Given the description of an element on the screen output the (x, y) to click on. 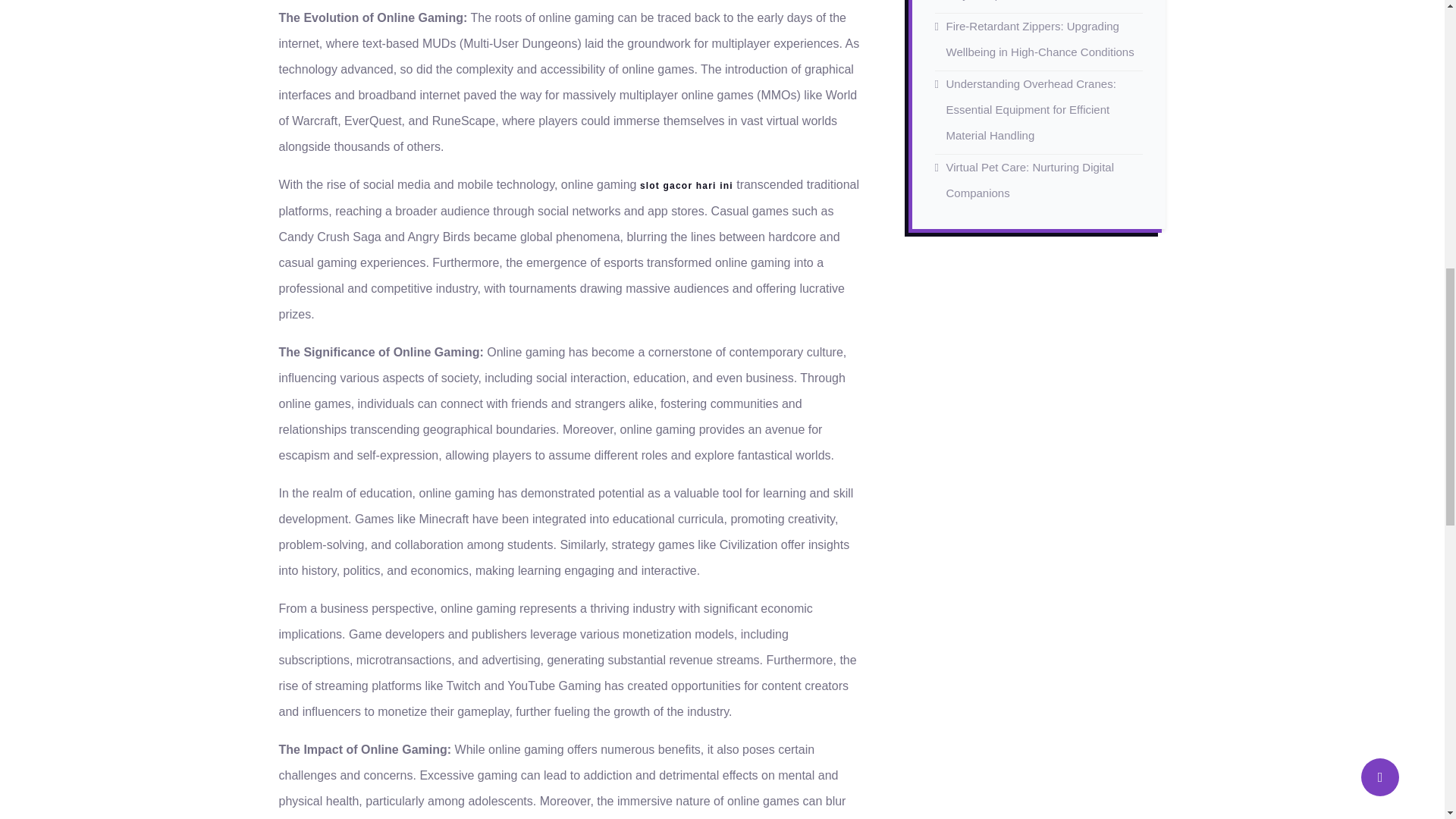
Virtual Pet Care: Nurturing Digital Companions (1029, 179)
slot gacor hari ini (686, 185)
